Given the description of an element on the screen output the (x, y) to click on. 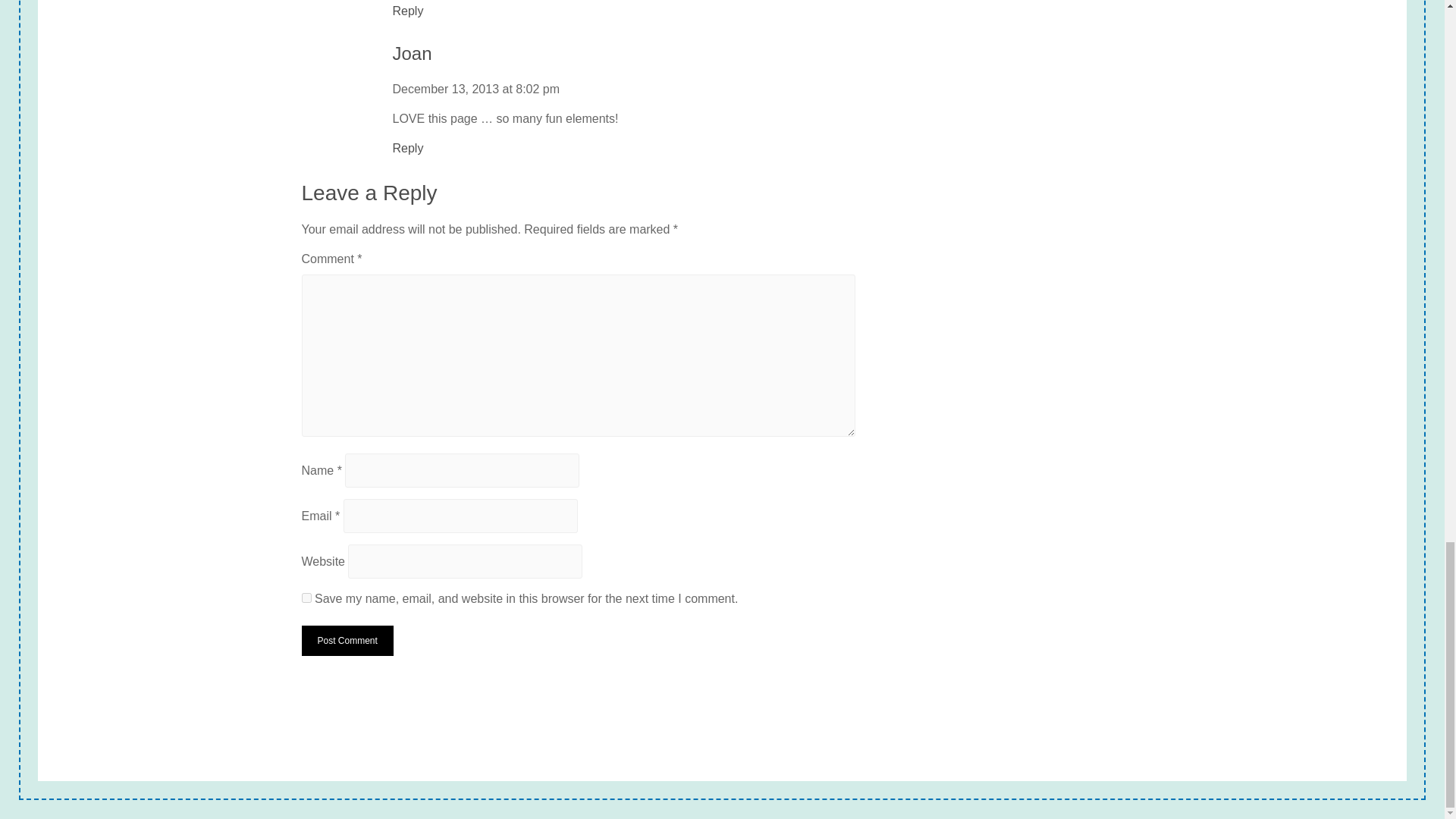
yes (306, 597)
Reply (408, 148)
Reply (408, 11)
Post Comment (347, 640)
